Given the description of an element on the screen output the (x, y) to click on. 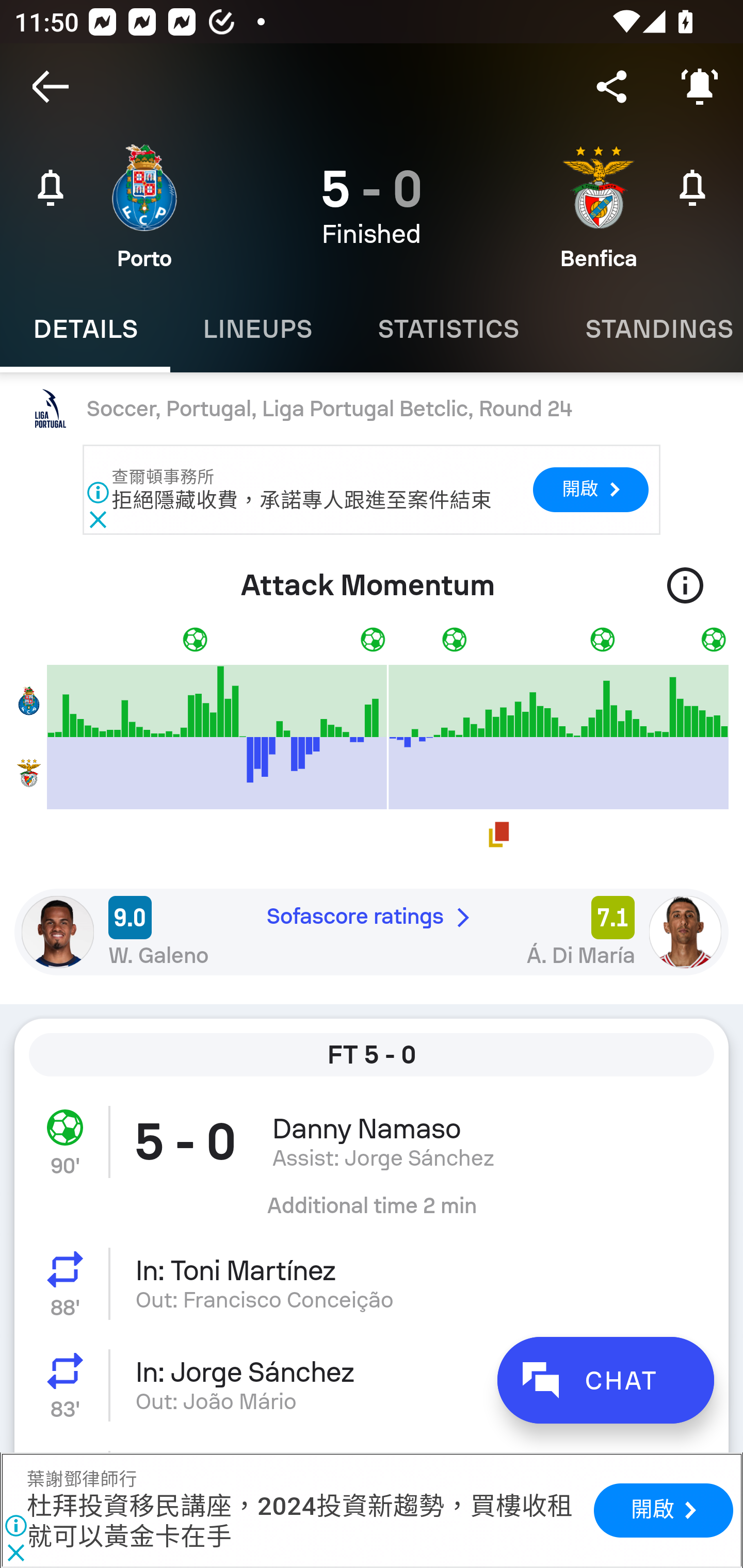
Navigate up (50, 86)
Lineups LINEUPS (257, 329)
Statistics STATISTICS (448, 329)
Standings STANDINGS (647, 329)
Soccer, Portugal, Liga Portugal Betclic, Round 24 (371, 409)
查爾頓事務所 (163, 476)
開啟 (590, 488)
拒絕隱藏收費，承諾專人跟進至案件結束 (301, 499)
9.0 Sofascore ratings 7.1 W. Galeno Á. Di María (371, 932)
FT 5 - 0 (371, 1055)
Additional time 2 min (371, 1212)
Substitution In: Jorge Sánchez 83' Out: João Mário (371, 1385)
CHAT (605, 1380)
葉謝鄧律師行 (81, 1480)
開啟 (663, 1510)
